Given the description of an element on the screen output the (x, y) to click on. 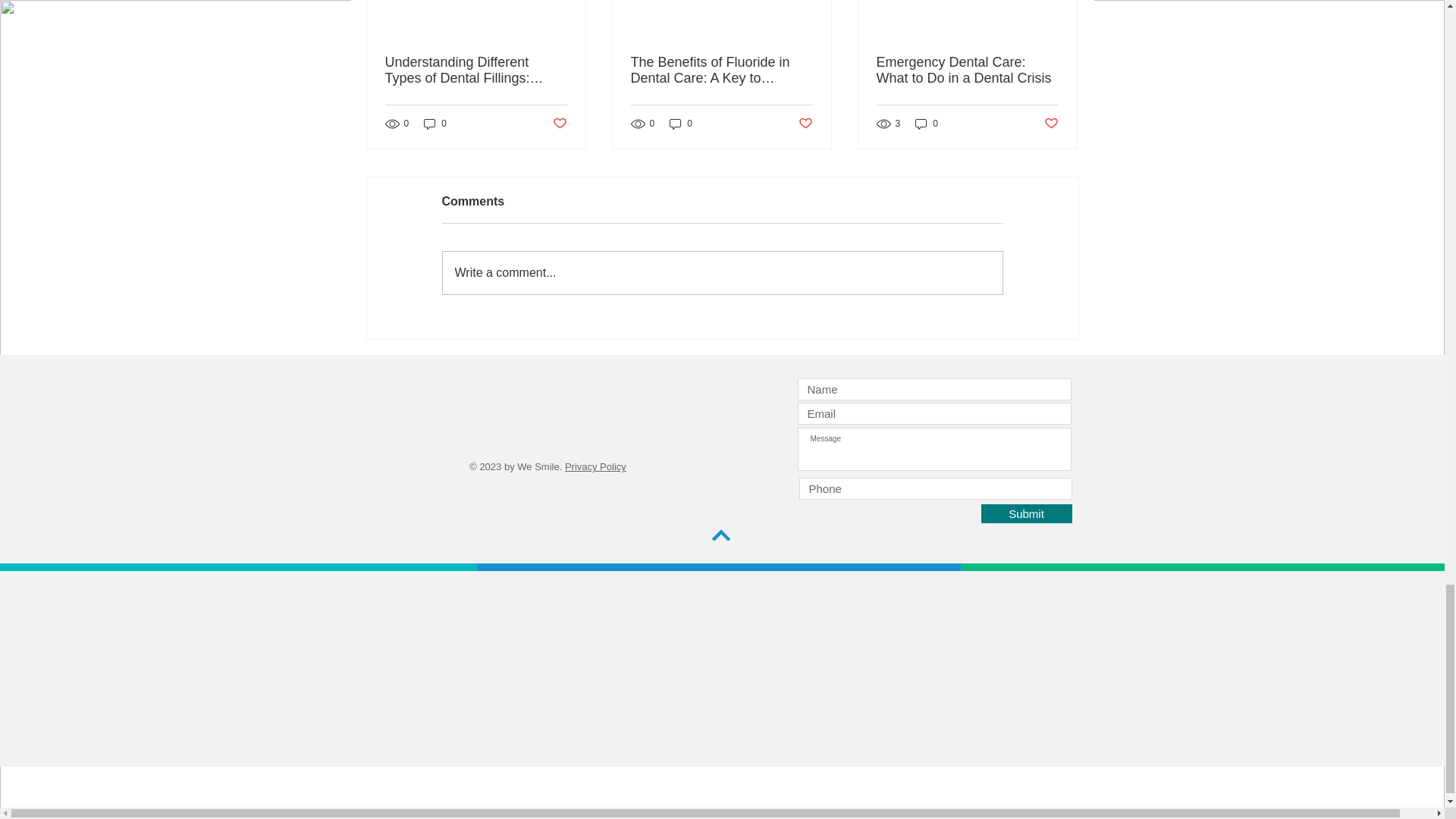
0 (681, 124)
Post not marked as liked (804, 123)
Post not marked as liked (1050, 123)
Privacy Policy (595, 466)
0 (435, 124)
Emergency Dental Care: What to Do in a Dental Crisis (967, 70)
0 (926, 124)
Write a comment... (722, 272)
Post not marked as liked (558, 123)
